Given the description of an element on the screen output the (x, y) to click on. 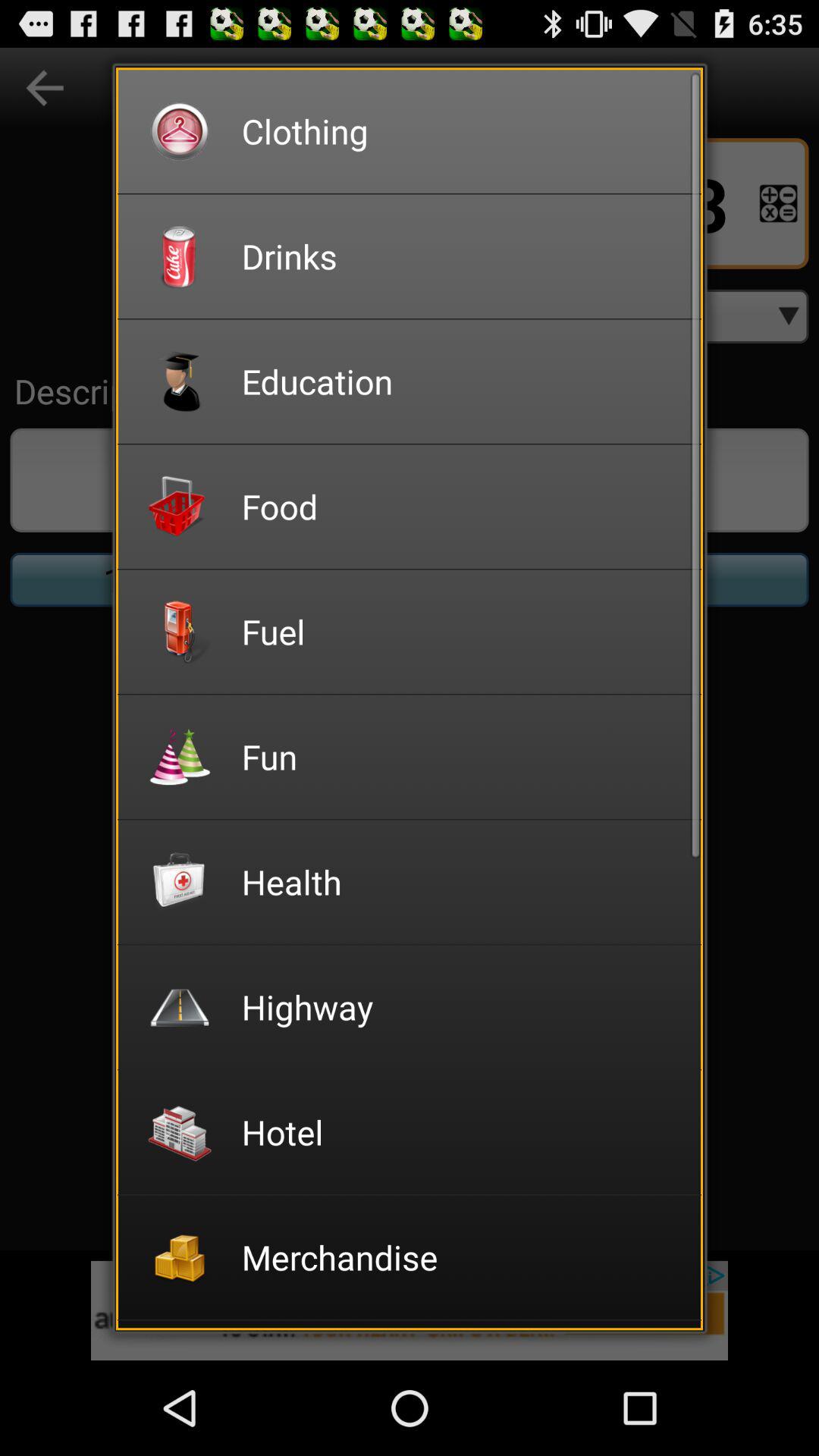
press the clothing icon (461, 131)
